Given the description of an element on the screen output the (x, y) to click on. 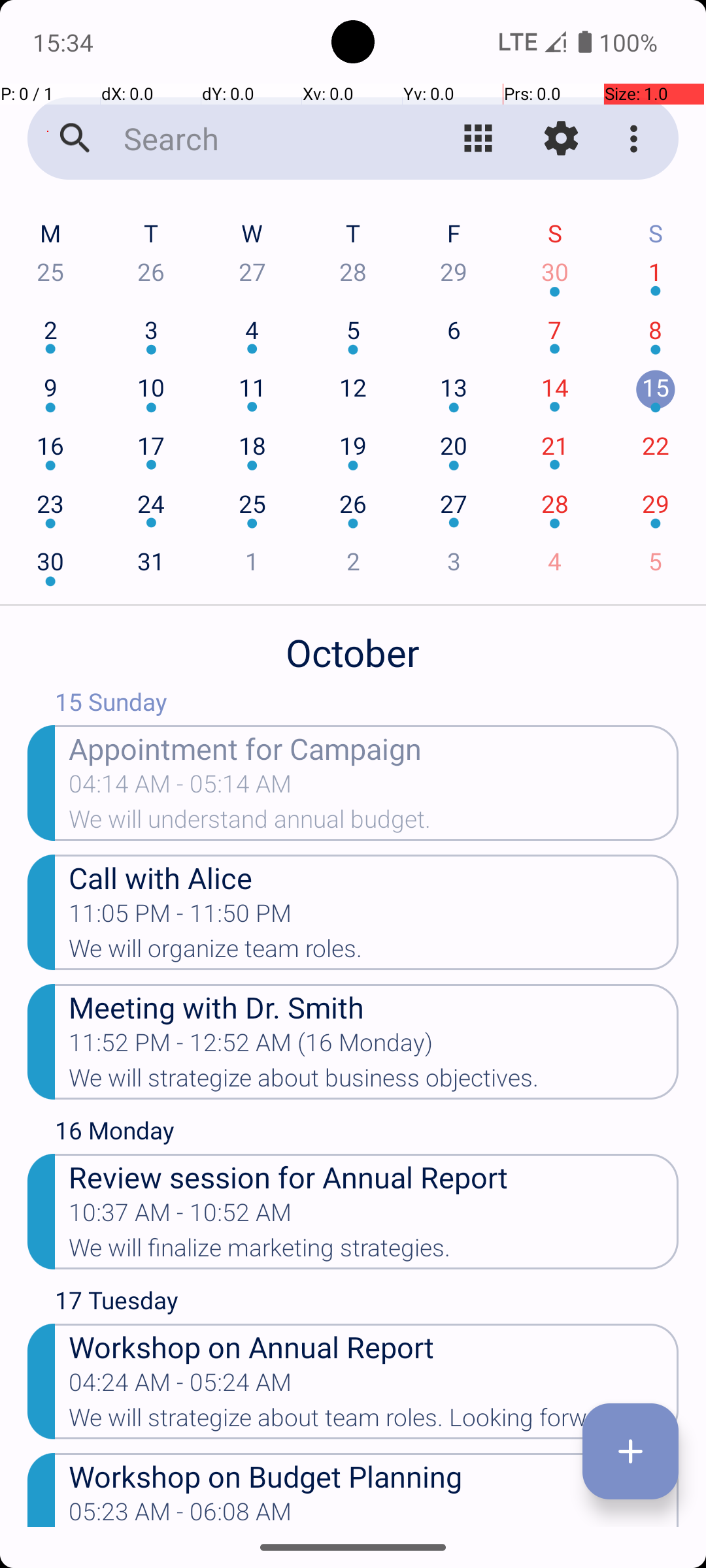
04:14 AM - 05:14 AM Element type: android.widget.TextView (179, 787)
We will understand annual budget. Element type: android.widget.TextView (373, 822)
11:05 PM - 11:50 PM Element type: android.widget.TextView (179, 916)
We will organize team roles. Element type: android.widget.TextView (373, 952)
11:52 PM - 12:52 AM (16 Monday) Element type: android.widget.TextView (250, 1046)
We will strategize about business objectives. Element type: android.widget.TextView (373, 1081)
10:37 AM - 10:52 AM Element type: android.widget.TextView (179, 1216)
We will finalize marketing strategies. Element type: android.widget.TextView (373, 1251)
04:24 AM - 05:24 AM Element type: android.widget.TextView (179, 1386)
We will strategize about team roles. Looking forward to productive discussions. Element type: android.widget.TextView (373, 1421)
05:23 AM - 06:08 AM Element type: android.widget.TextView (179, 1512)
